Given the description of an element on the screen output the (x, y) to click on. 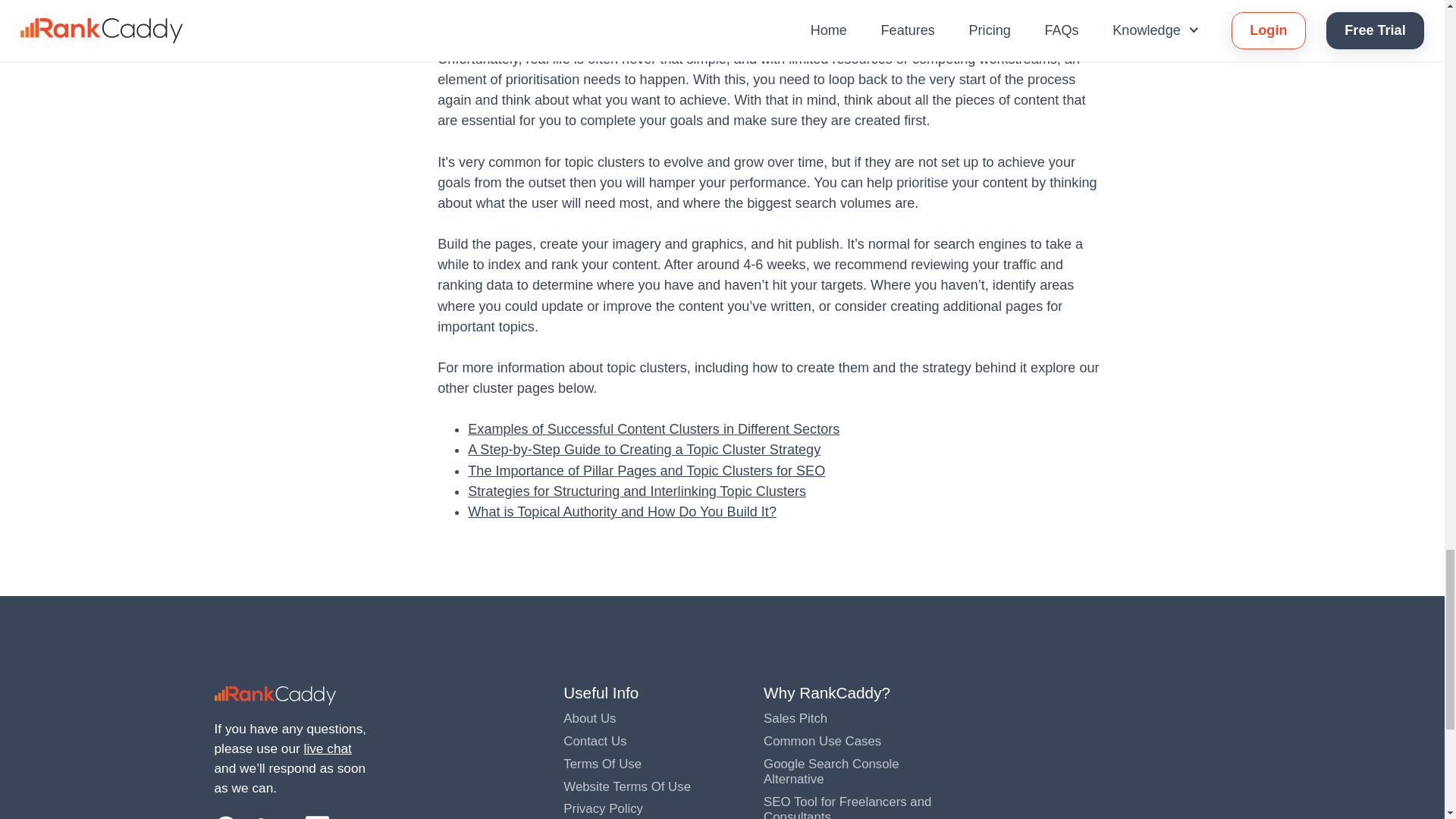
Contact Us (594, 740)
The Importance of Pillar Pages and Topic Clusters for SEO (646, 470)
Google Search Console Alternative (830, 771)
Sales Pitch (794, 718)
A Step-by-Step Guide to Creating a Topic Cluster Strategy (644, 449)
SEO Tool for Freelancers and Consultants (846, 806)
About Us (589, 718)
What is Topical Authority and How Do You Build It? (621, 511)
Terms Of Use (602, 763)
Common Use Cases (821, 740)
Strategies for Structuring and Interlinking Topic Clusters (636, 491)
Privacy Policy (603, 808)
Examples of Successful Content Clusters in Different Sectors (653, 428)
Website Terms Of Use (626, 786)
